Given the description of an element on the screen output the (x, y) to click on. 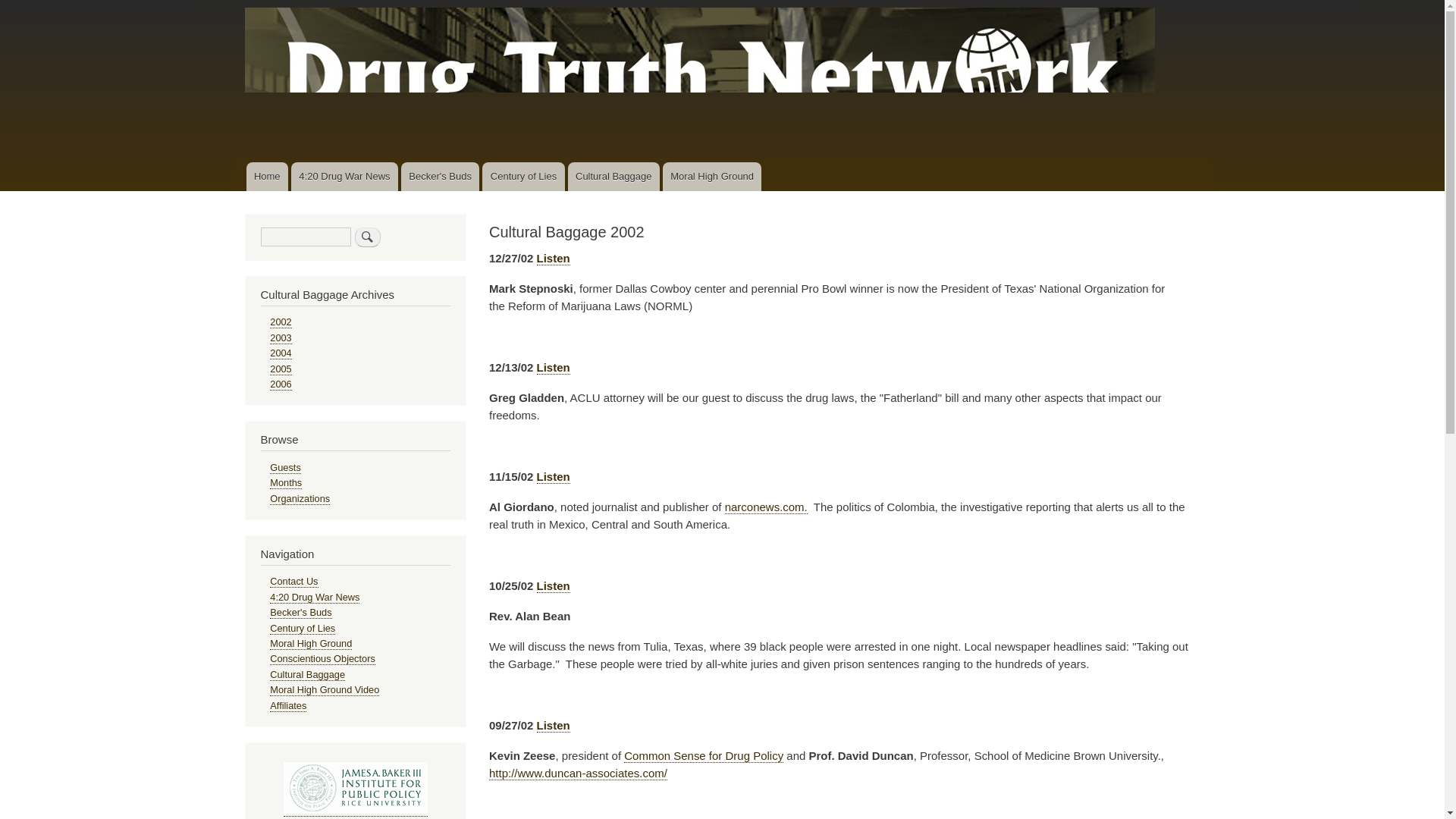
Cultural Baggage Radio Show (613, 176)
Browse and search programs by guest (285, 467)
Cultural Baggage 2003 (280, 337)
Century of Lies (522, 176)
Claiming the Moral High Ground (711, 176)
Skip to main content (722, 1)
Cultural Baggage 2007 (280, 369)
narconews.com. (766, 507)
Century of Lies (522, 176)
Browse and search programs by guest organization (299, 499)
